Given the description of an element on the screen output the (x, y) to click on. 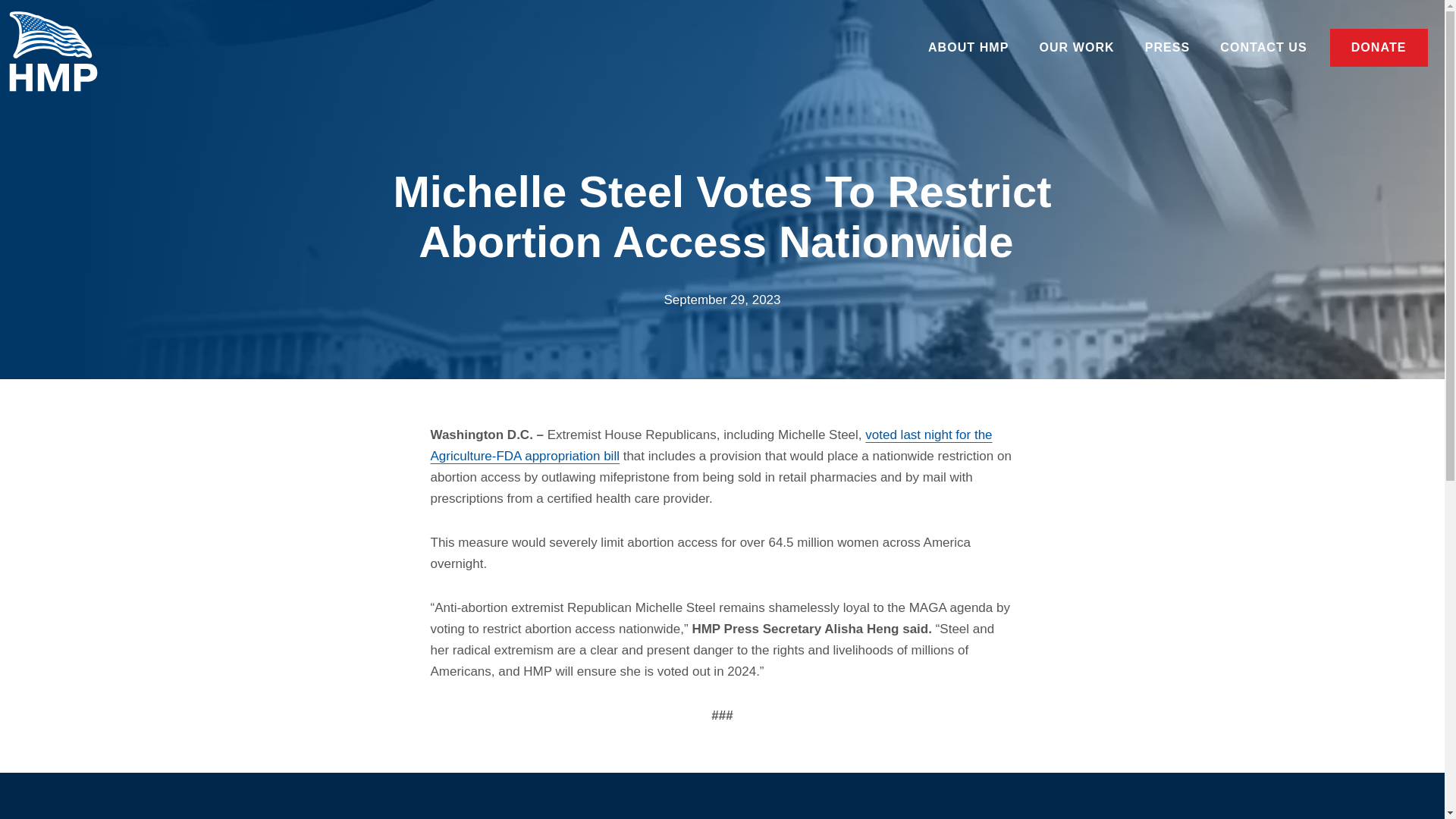
OUR WORK (1076, 46)
CONTACT US (1263, 46)
PRESS (1167, 46)
voted last night for the Agriculture-FDA appropriation bill (711, 445)
homepage (62, 56)
DONATE (1375, 46)
ABOUT HMP (968, 46)
